Given the description of an element on the screen output the (x, y) to click on. 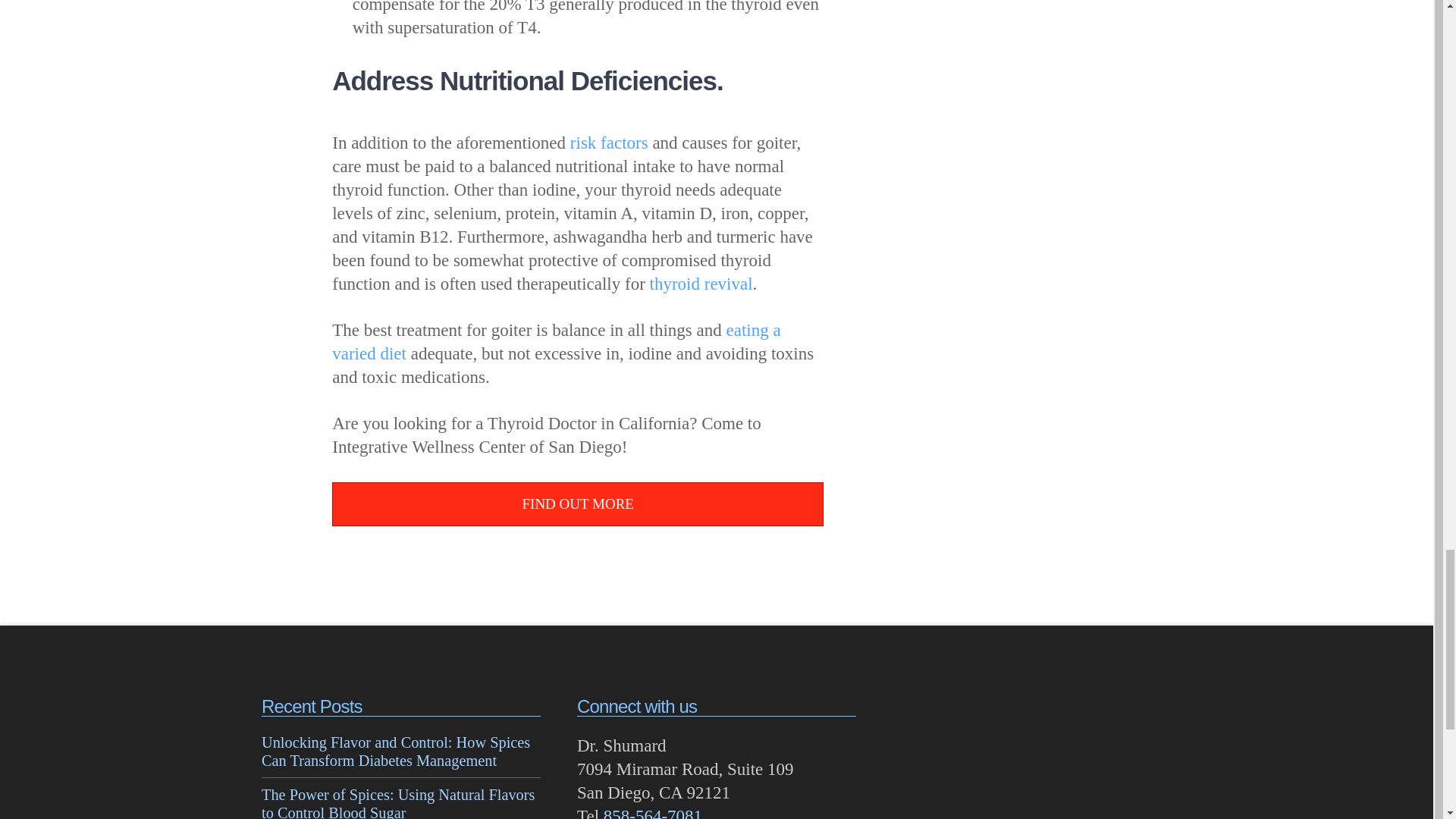
thyroid revival (700, 283)
858-564-7081 (652, 812)
risk factors (608, 142)
FIND OUT MORE (577, 504)
eating a varied diet (555, 342)
